Given the description of an element on the screen output the (x, y) to click on. 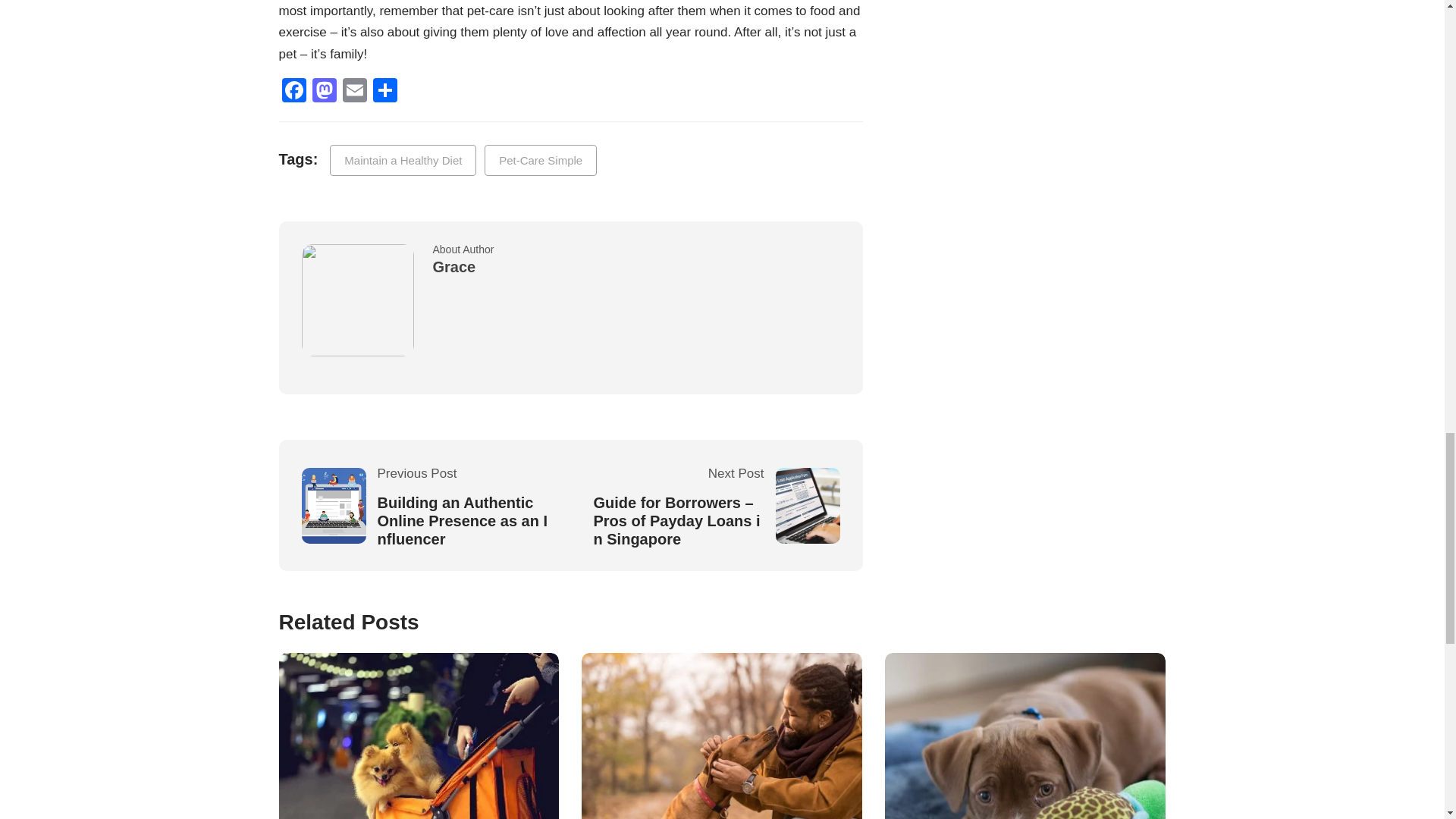
Facebook (293, 91)
Email (354, 91)
Mastodon (323, 91)
